Given the description of an element on the screen output the (x, y) to click on. 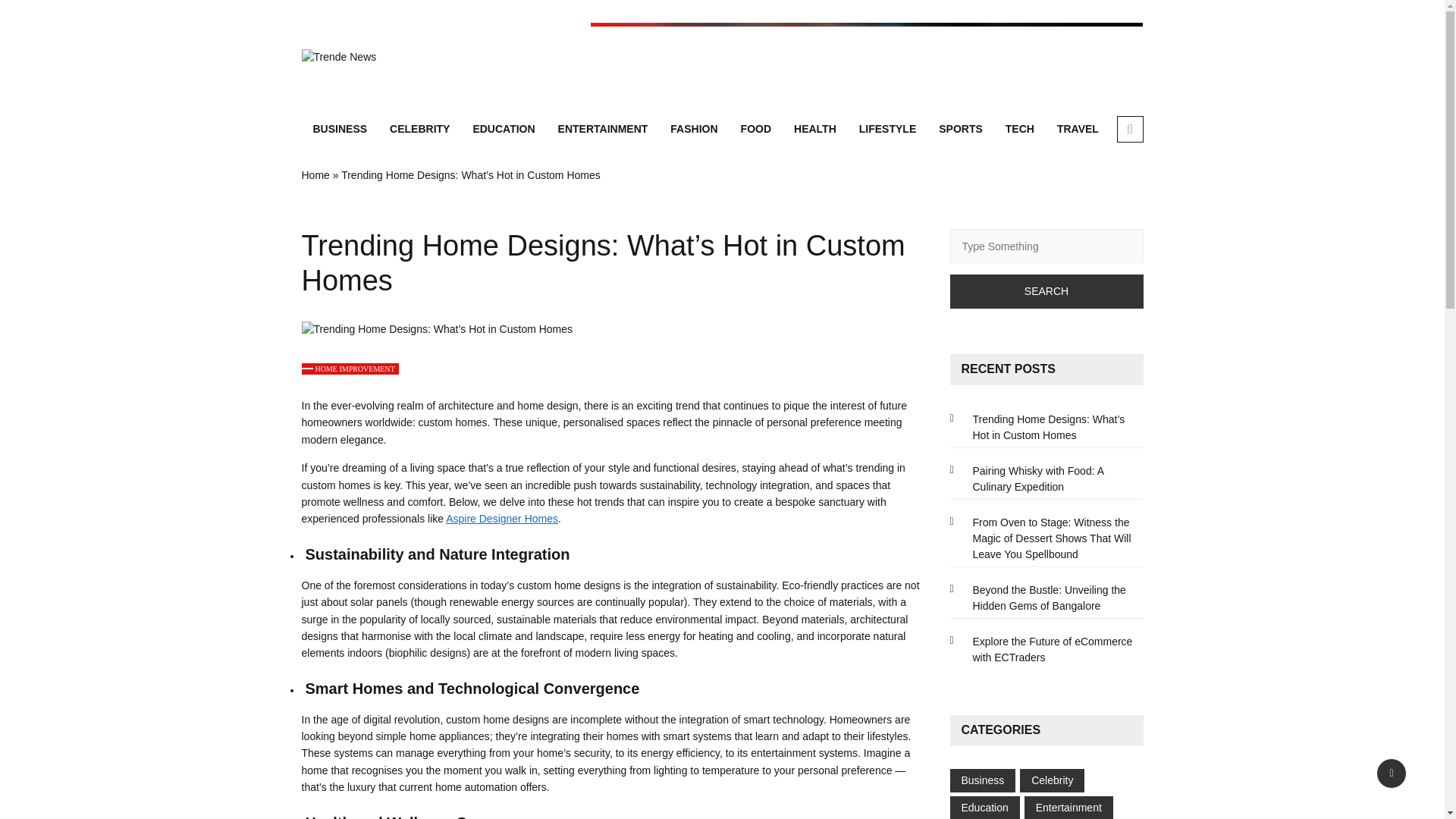
HOME IMPROVEMENT (349, 368)
Celebrity (1051, 779)
Entertainment (1068, 807)
Search (1045, 291)
Education (984, 807)
Pairing Whisky with Food: A Culinary Expedition (1045, 478)
Trende News (469, 71)
Aspire Designer Homes (501, 518)
TECH (1019, 128)
ENTERTAINMENT (603, 128)
